Given the description of an element on the screen output the (x, y) to click on. 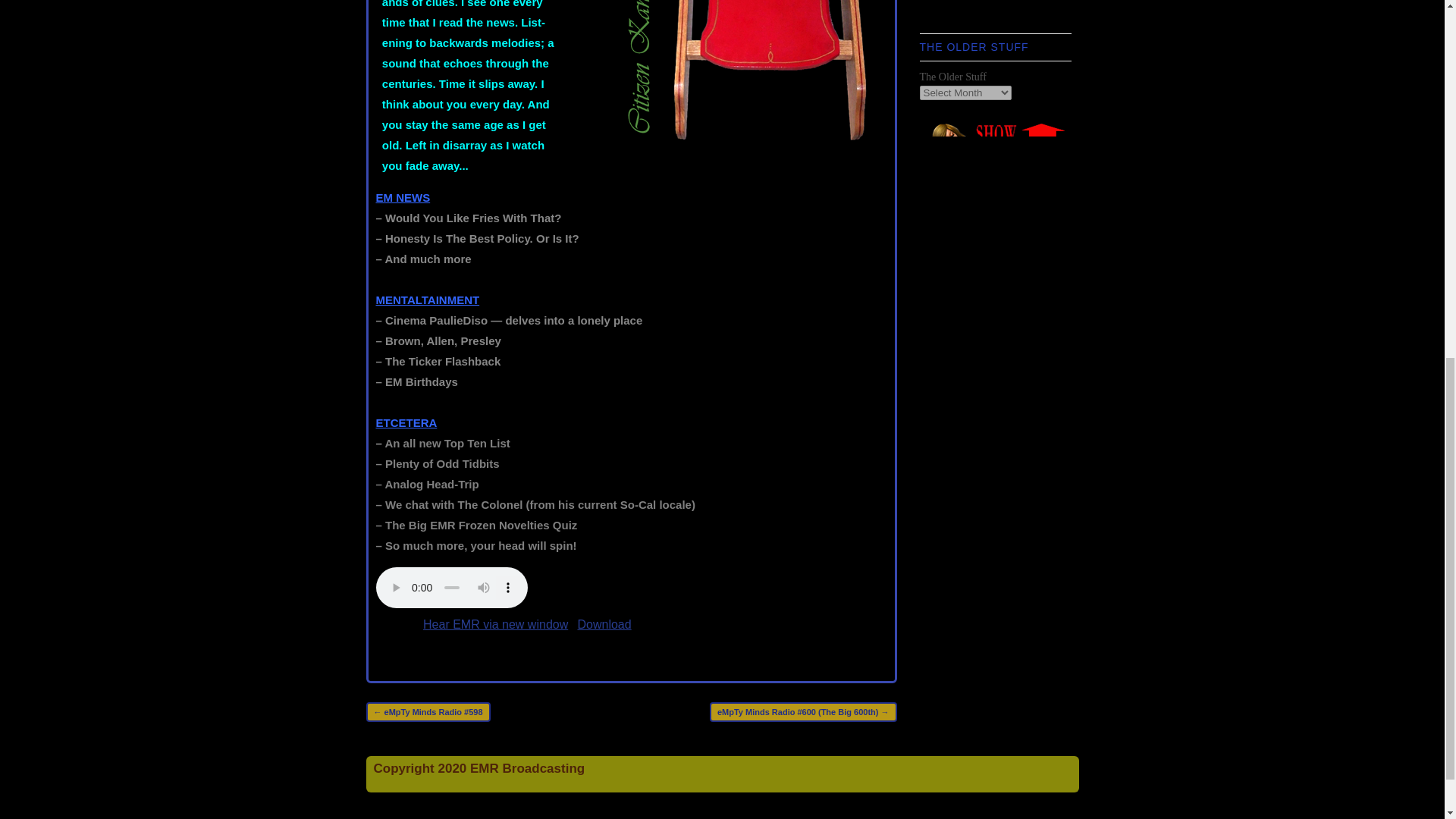
Hear EMR via new window (495, 624)
Hear EMR via new window (495, 624)
Download (603, 624)
Download (603, 624)
